Given the description of an element on the screen output the (x, y) to click on. 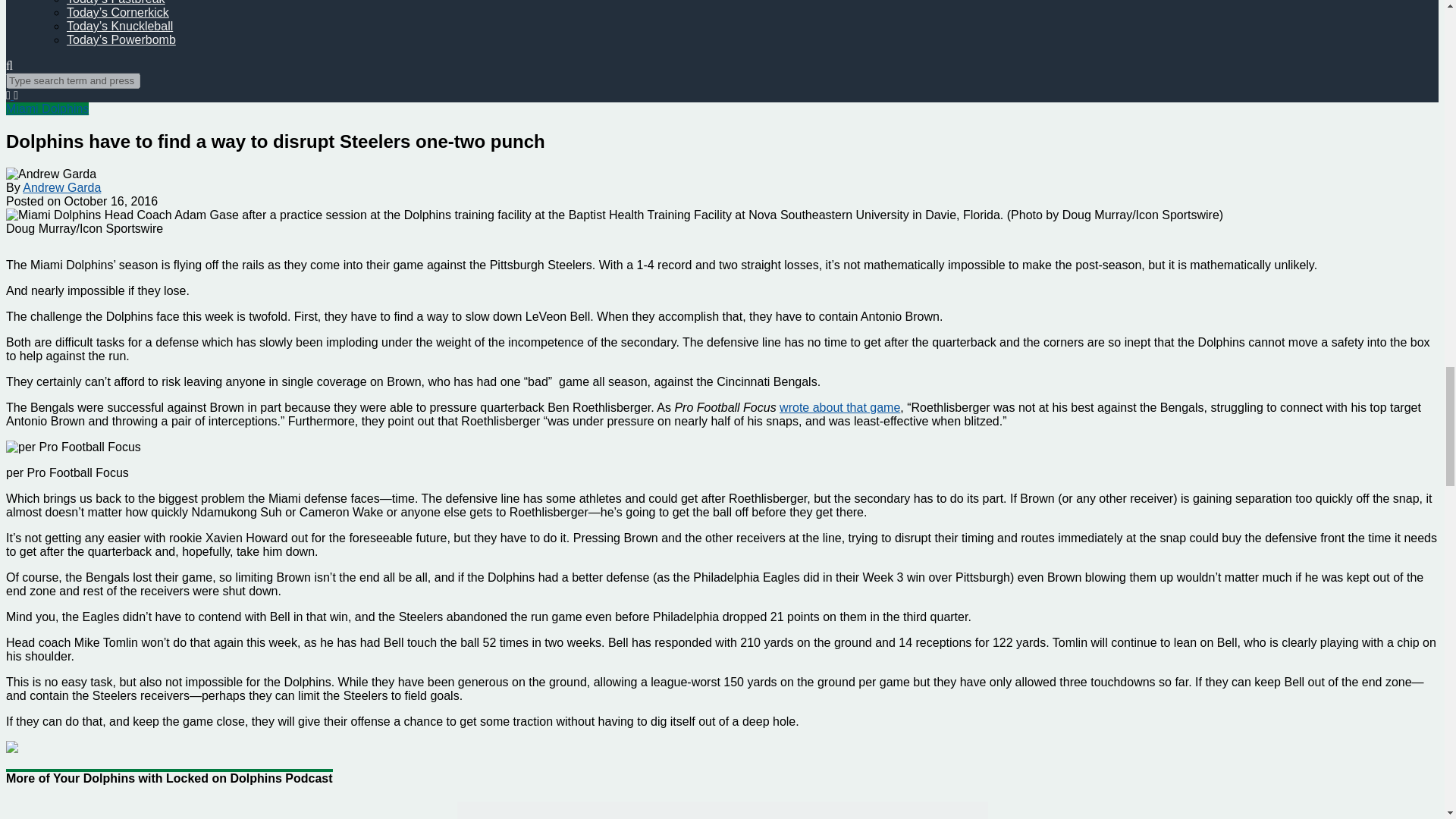
Type search term and press enter (72, 80)
